Given the description of an element on the screen output the (x, y) to click on. 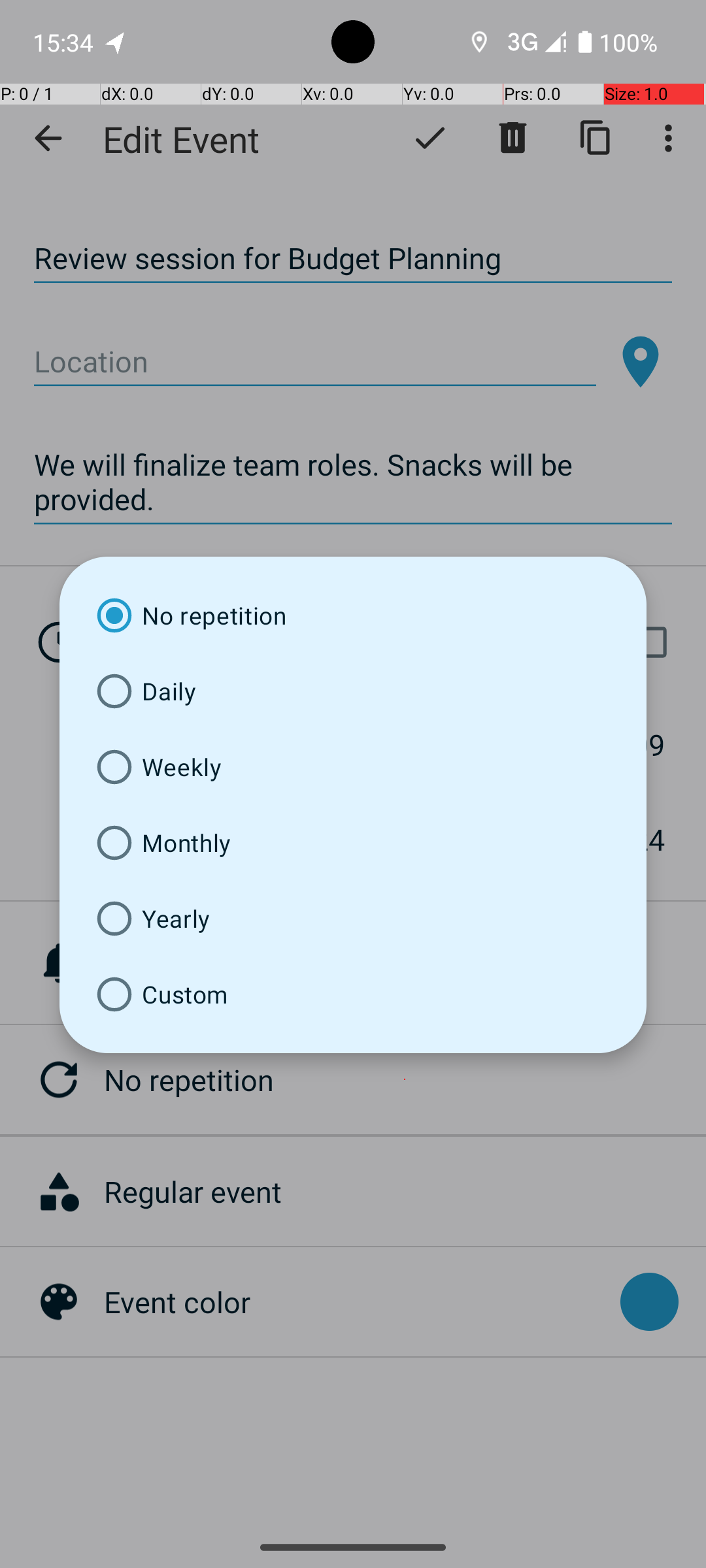
Daily Element type: android.widget.RadioButton (352, 691)
Weekly Element type: android.widget.RadioButton (352, 766)
Monthly Element type: android.widget.RadioButton (352, 842)
Yearly Element type: android.widget.RadioButton (352, 918)
Custom Element type: android.widget.RadioButton (352, 994)
